Given the description of an element on the screen output the (x, y) to click on. 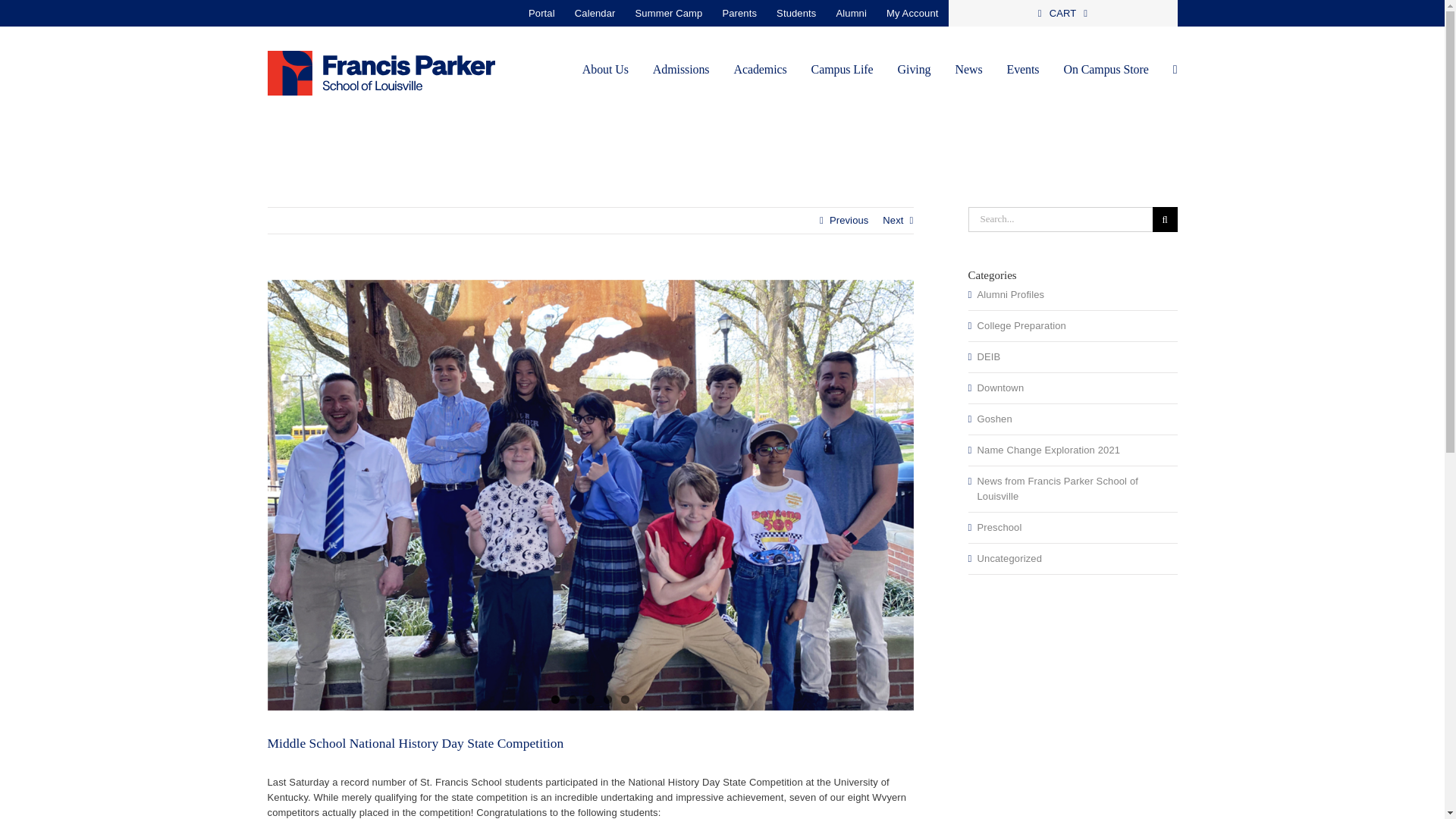
Alumni (850, 13)
CART (1061, 13)
About Us (605, 69)
Admissions (681, 69)
Calendar (595, 13)
Academics (759, 69)
Portal (541, 13)
Log In (1059, 137)
Summer Camp (669, 13)
Students (796, 13)
My Account (912, 13)
Parents (739, 13)
